Given the description of an element on the screen output the (x, y) to click on. 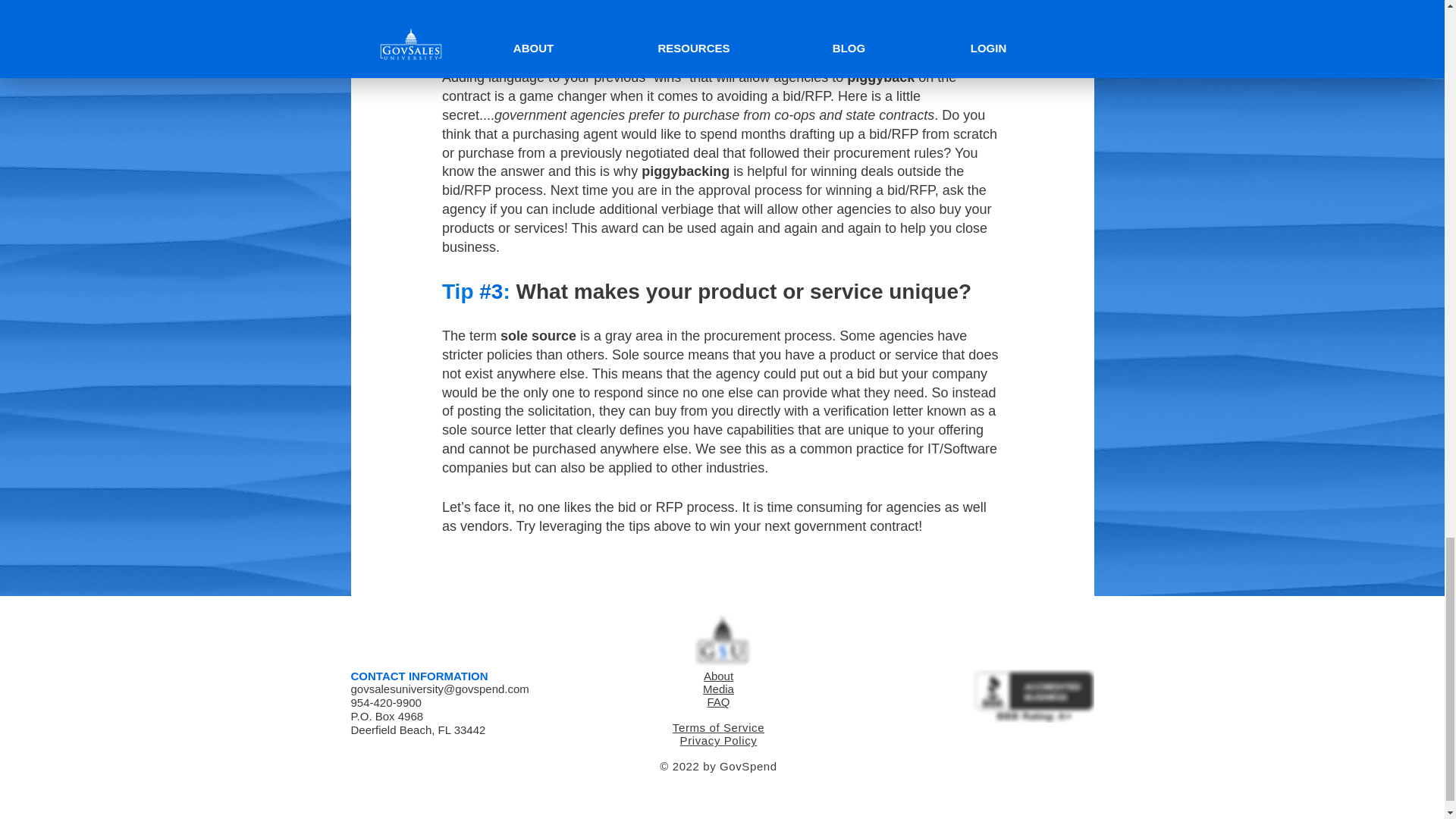
Terms of Service (718, 727)
Privacy Policy (718, 739)
FAQ (717, 701)
About (718, 675)
Media (718, 688)
